Given the description of an element on the screen output the (x, y) to click on. 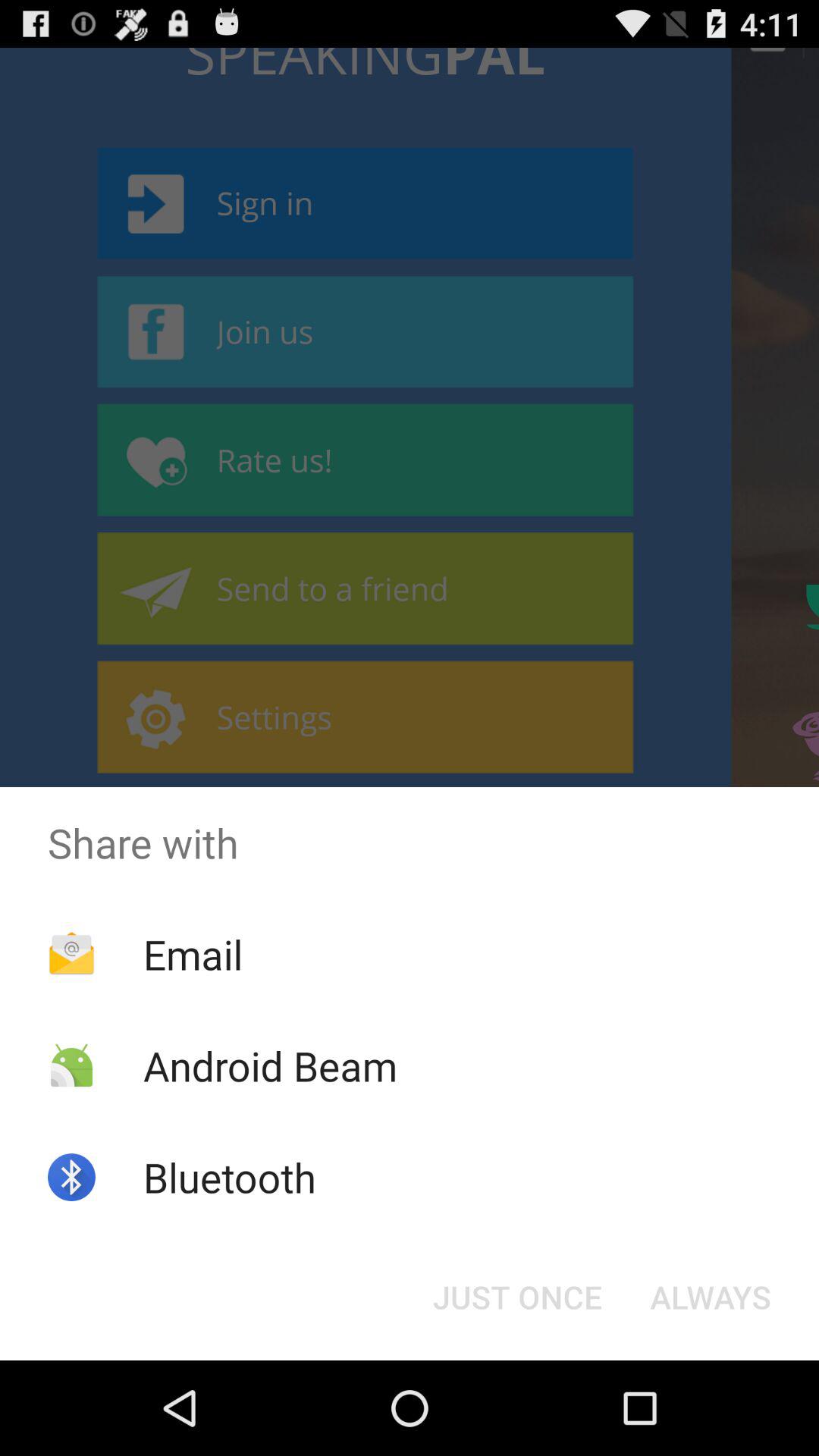
press the item below the share with icon (517, 1296)
